Given the description of an element on the screen output the (x, y) to click on. 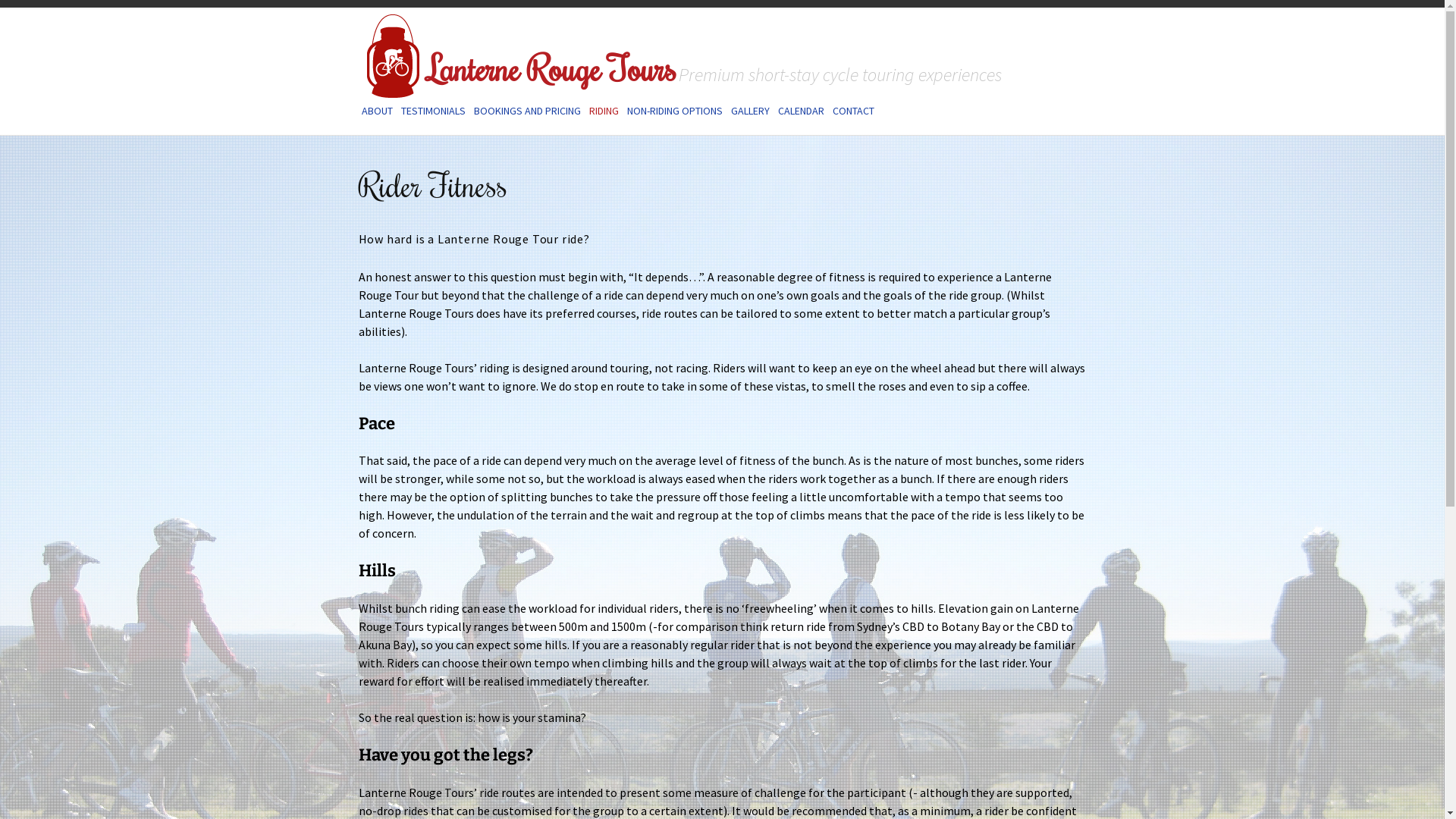
CALENDAR Element type: text (801, 110)
Skip to content Element type: text (357, 100)
CONTACT Element type: text (853, 110)
RIDING Element type: text (603, 110)
BOOKINGS AND PRICING Element type: text (526, 110)
TESTIMONIALS Element type: text (432, 110)
NON-RIDING OPTIONS Element type: text (673, 110)
GALLERY Element type: text (750, 110)
ABOUT Element type: text (376, 110)
